Given the description of an element on the screen output the (x, y) to click on. 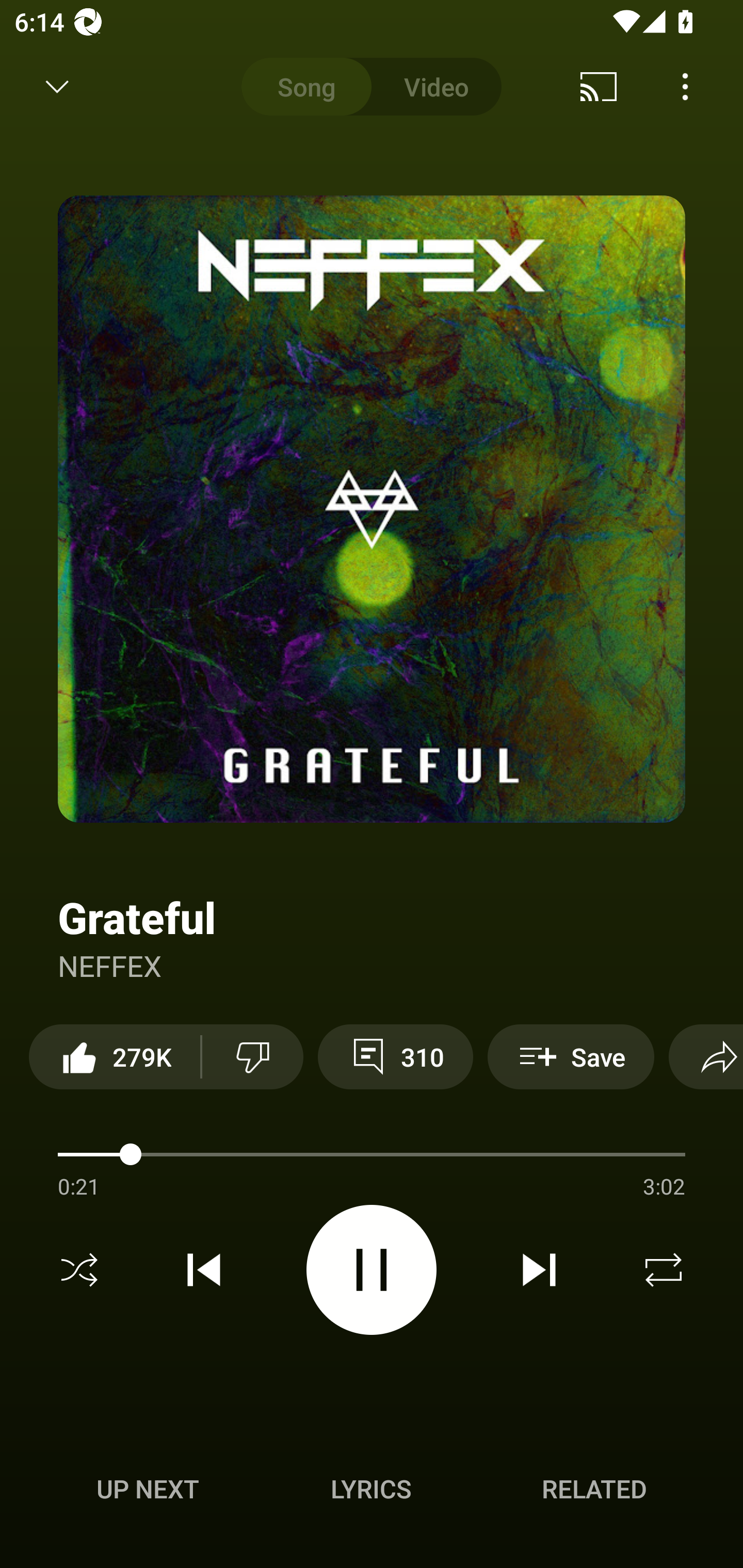
Minimize (57, 86)
Cast. Disconnected (598, 86)
Menu (684, 86)
Dislike (252, 1056)
310 View 310 comments (395, 1056)
Save Save to playlist (570, 1056)
Share (705, 1056)
Pause video (371, 1269)
Shuffle off (79, 1269)
Previous track (203, 1269)
Next track (538, 1269)
Repeat off (663, 1269)
Up next UP NEXT Lyrics LYRICS Related RELATED (371, 1491)
Lyrics LYRICS (370, 1488)
Related RELATED (594, 1488)
